Given the description of an element on the screen output the (x, y) to click on. 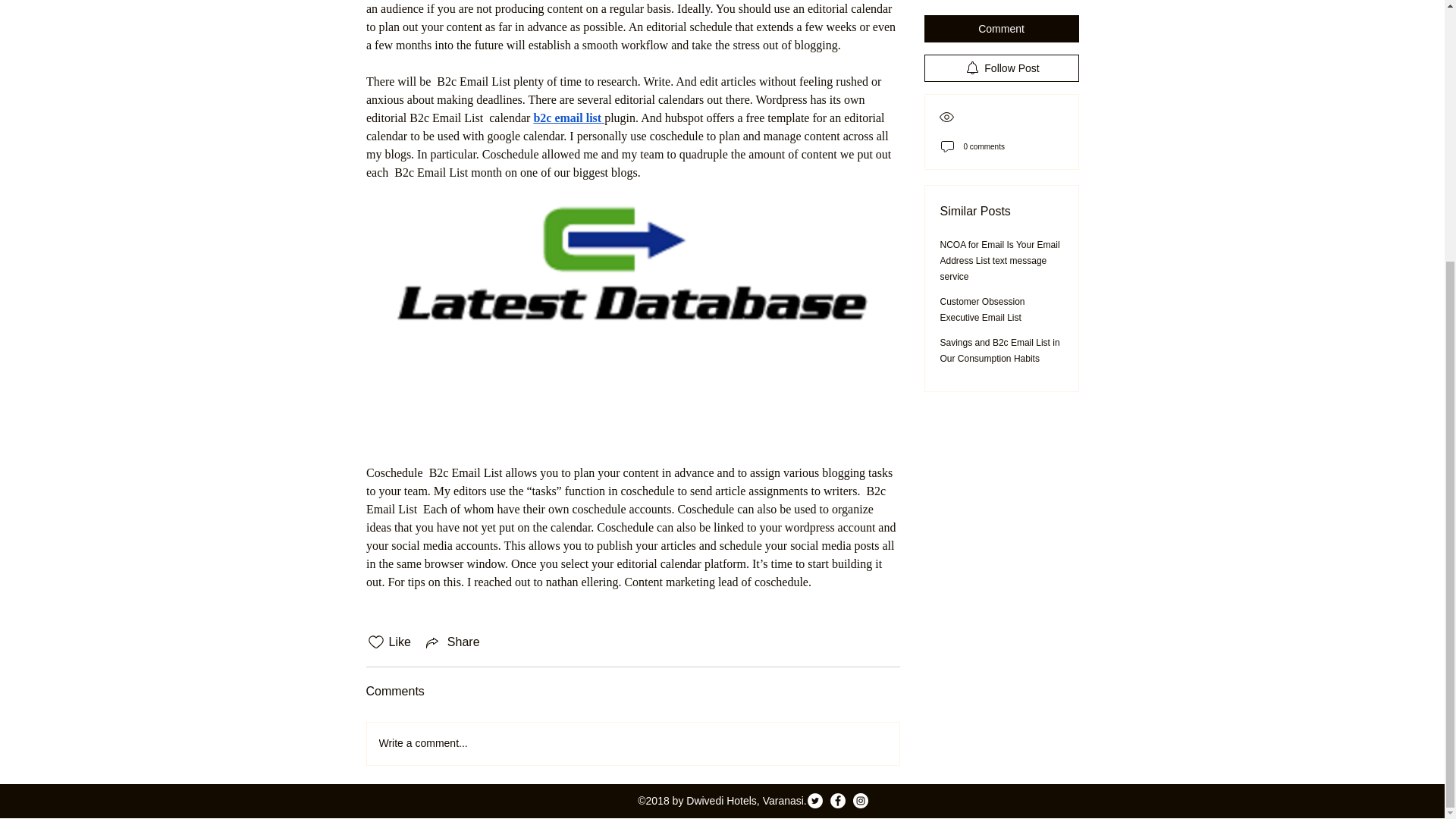
Share (451, 642)
Write a comment... (632, 743)
b2c email list (566, 117)
